Given the description of an element on the screen output the (x, y) to click on. 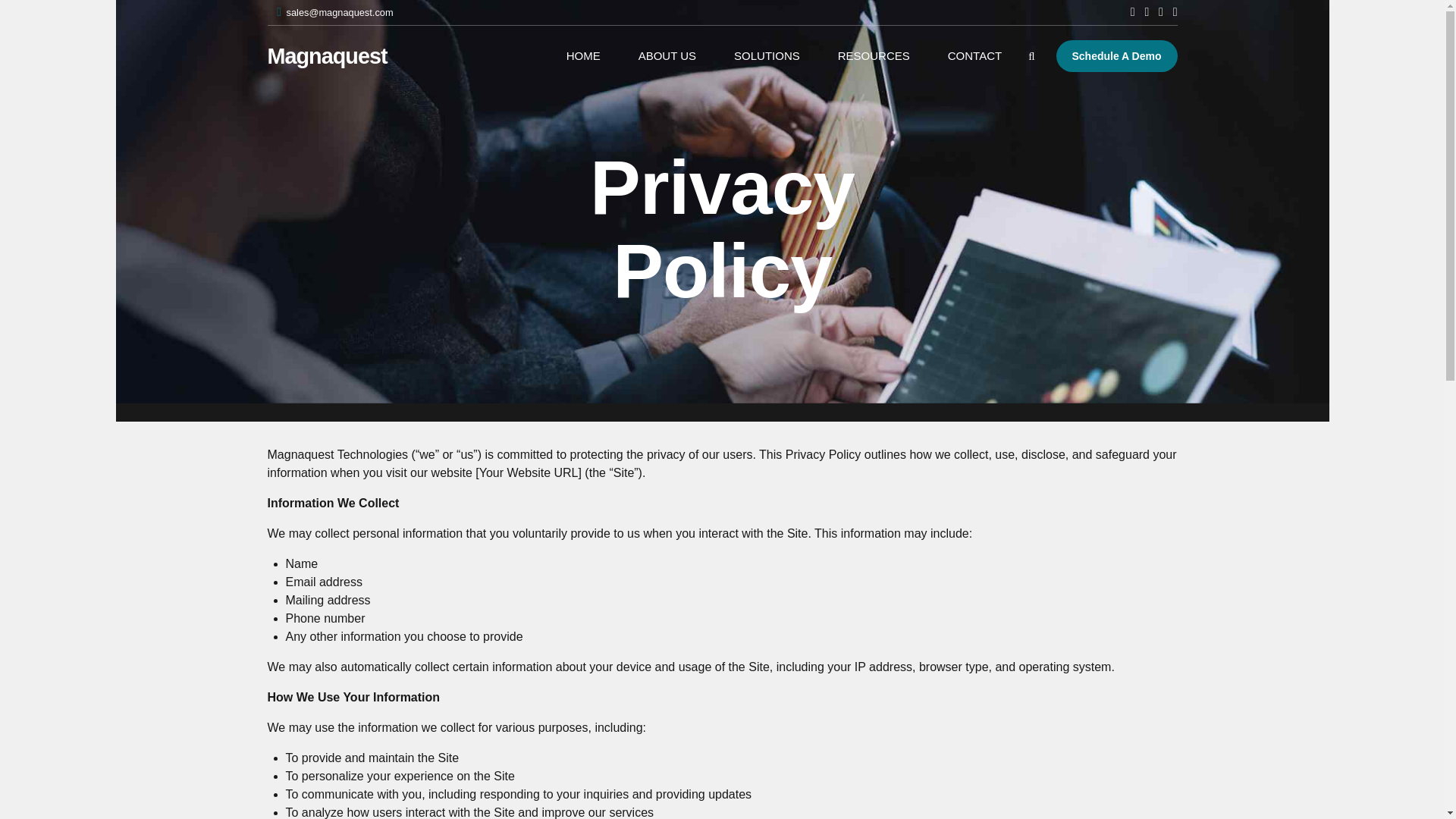
ABOUT US (667, 55)
RESOURCES (873, 55)
HOME (583, 55)
Magnaquest (326, 55)
SOLUTIONS (767, 55)
Schedule A Demo (1115, 56)
